Given the description of an element on the screen output the (x, y) to click on. 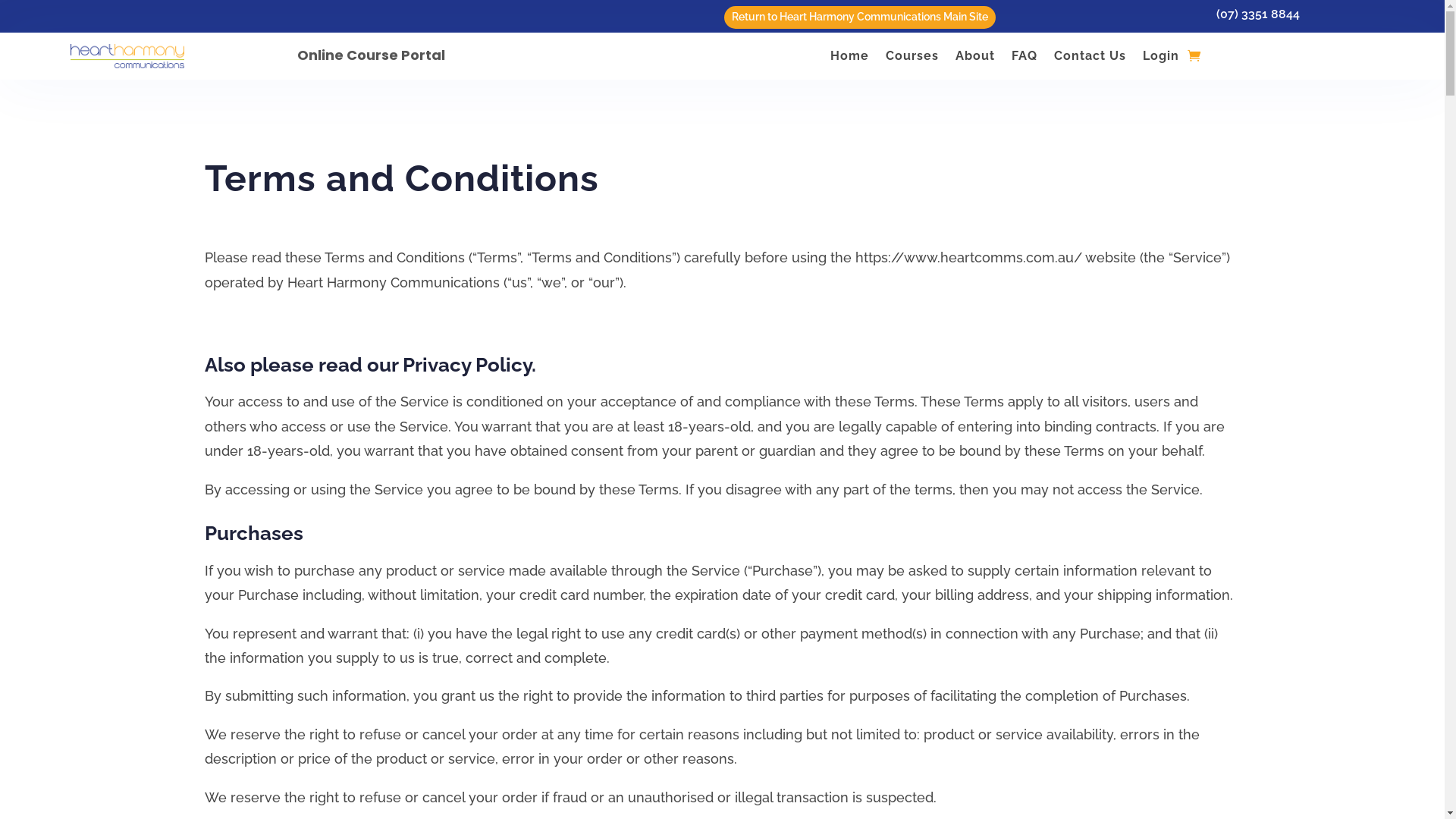
Login Element type: text (1160, 58)
read our Privacy Policy Element type: text (424, 364)
Courses Element type: text (911, 58)
Contact Us Element type: text (1090, 58)
Return to Heart Harmony Communications Main Site Element type: text (859, 17)
(07) 3351 8844 Element type: text (1257, 13)
Home Element type: text (849, 58)
About Element type: text (974, 58)
FAQ Element type: text (1024, 58)
